Given the description of an element on the screen output the (x, y) to click on. 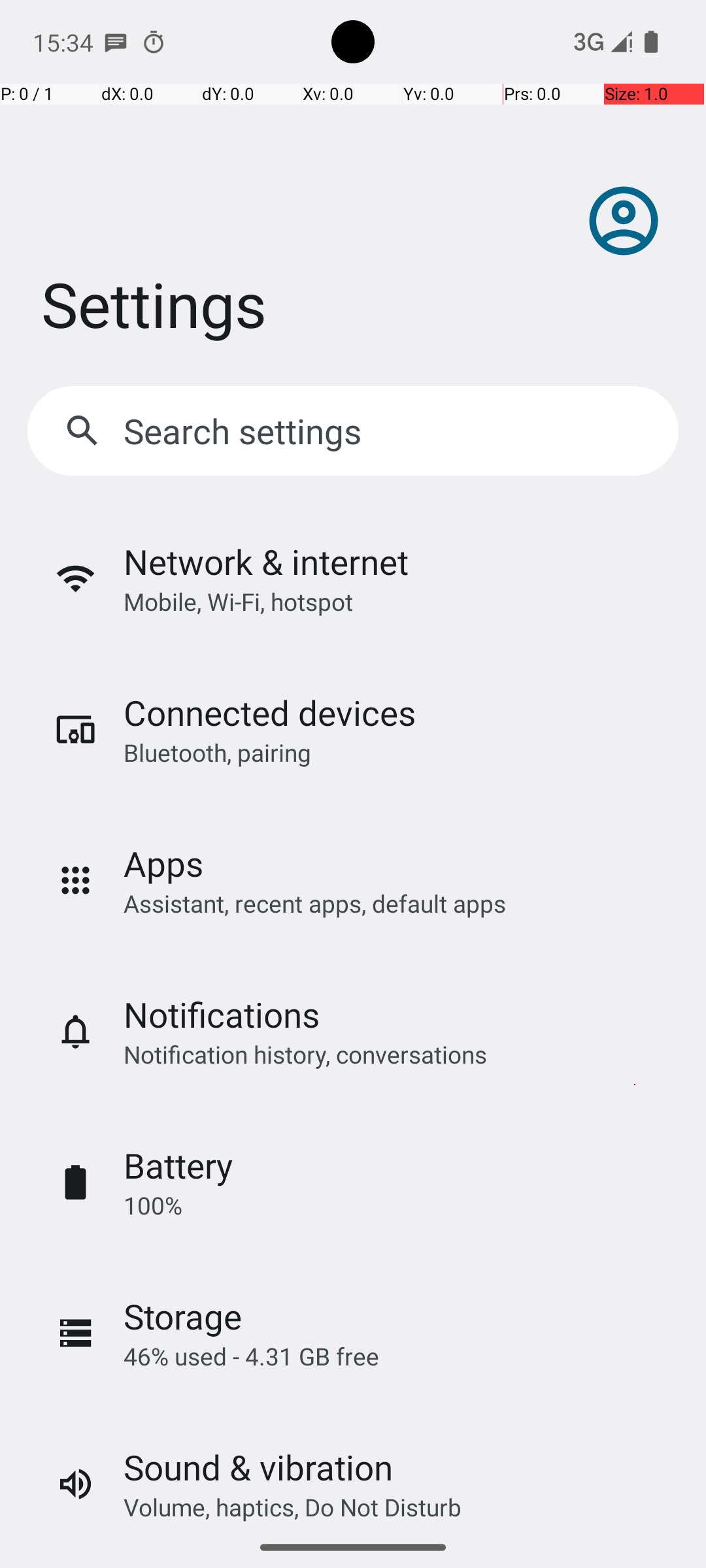
46% used - 4.31 GB free Element type: android.widget.TextView (251, 1355)
